Given the description of an element on the screen output the (x, y) to click on. 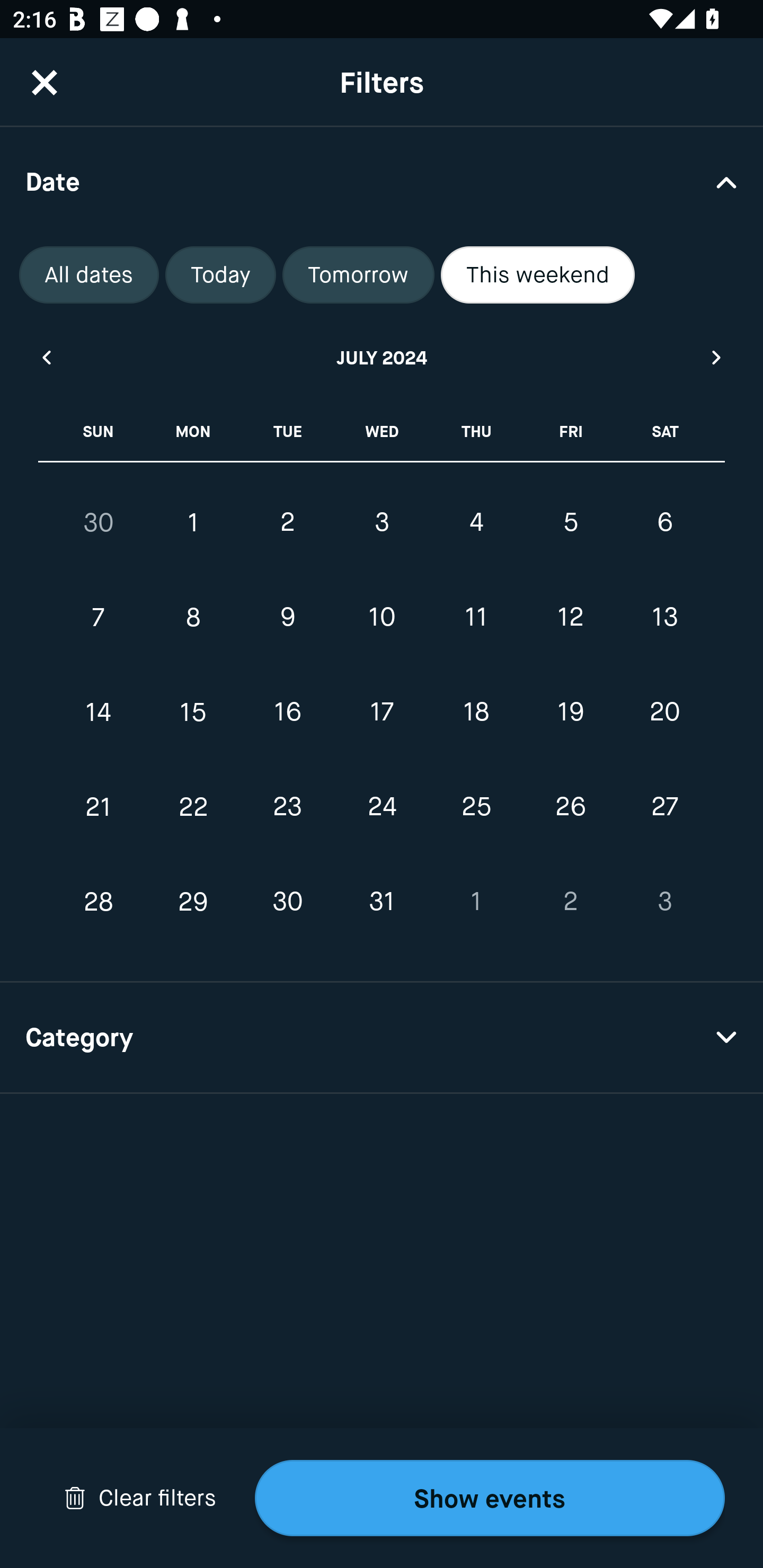
CloseButton (44, 82)
Date Drop Down Arrow (381, 181)
All dates (88, 274)
Today (220, 274)
Tomorrow (358, 274)
This weekend (537, 274)
Previous (45, 357)
Next (717, 357)
30 (98, 522)
1 (192, 522)
2 (287, 522)
3 (381, 522)
4 (475, 522)
5 (570, 522)
6 (664, 522)
7 (98, 617)
8 (192, 617)
9 (287, 617)
10 (381, 617)
11 (475, 617)
12 (570, 617)
13 (664, 617)
14 (98, 711)
15 (192, 711)
16 (287, 711)
17 (381, 711)
18 (475, 711)
19 (570, 711)
20 (664, 711)
21 (98, 806)
22 (192, 806)
23 (287, 806)
24 (381, 806)
25 (475, 806)
26 (570, 806)
27 (664, 806)
28 (98, 901)
29 (192, 901)
30 (287, 901)
31 (381, 901)
1 (475, 901)
2 (570, 901)
3 (664, 901)
Category Drop Down Arrow (381, 1038)
Drop Down Arrow Clear filters (139, 1497)
Show events (489, 1497)
